Given the description of an element on the screen output the (x, y) to click on. 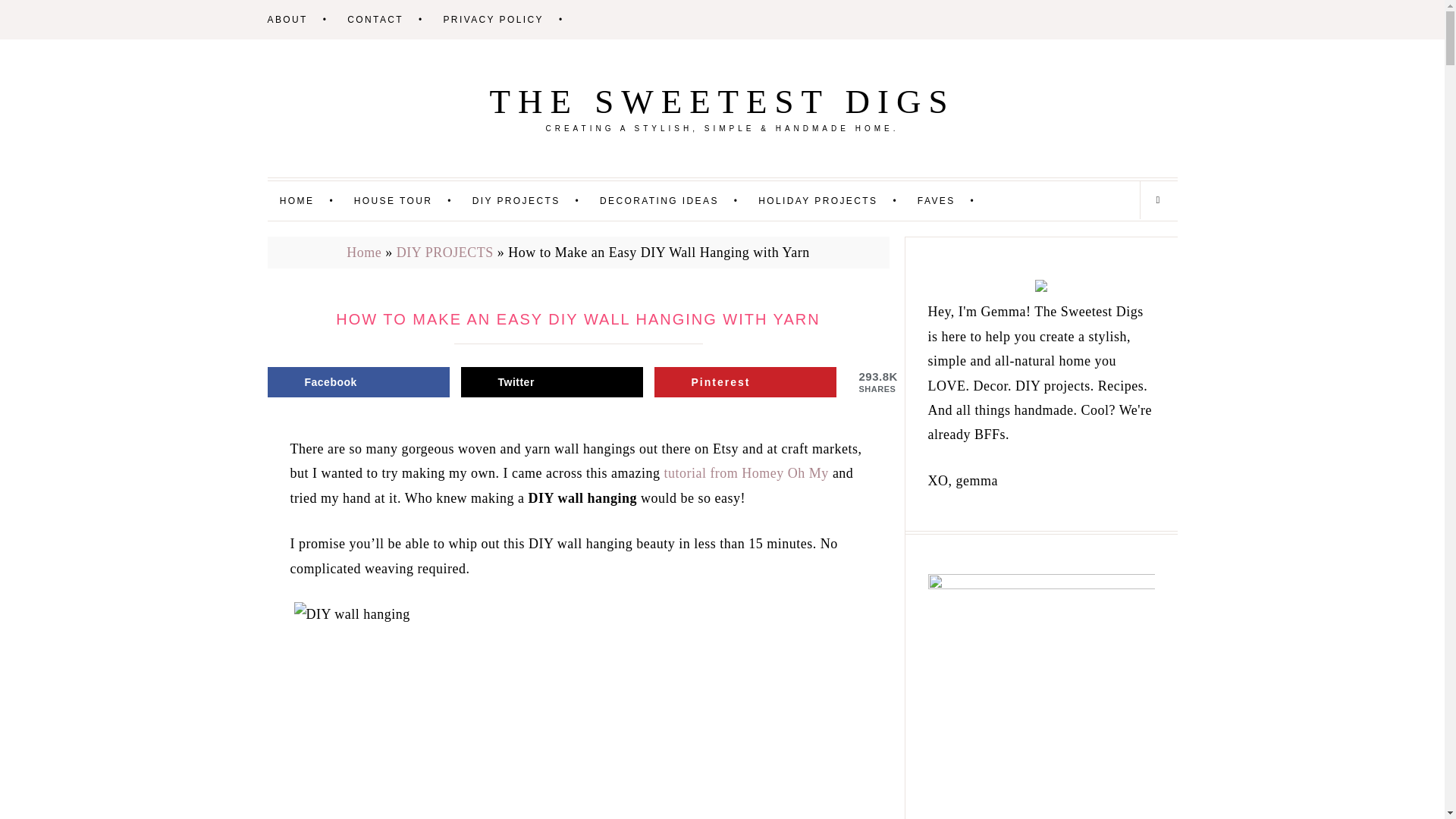
HOME (314, 200)
THE SWEETEST DIGS (722, 101)
ABOUT (304, 19)
FAVES (953, 200)
Share on Facebook (357, 381)
HOLIDAY PROJECTS (835, 200)
Facebook (357, 381)
DIY PROJECTS (444, 252)
Save to Pinterest (744, 381)
Twitter (552, 381)
